Given the description of an element on the screen output the (x, y) to click on. 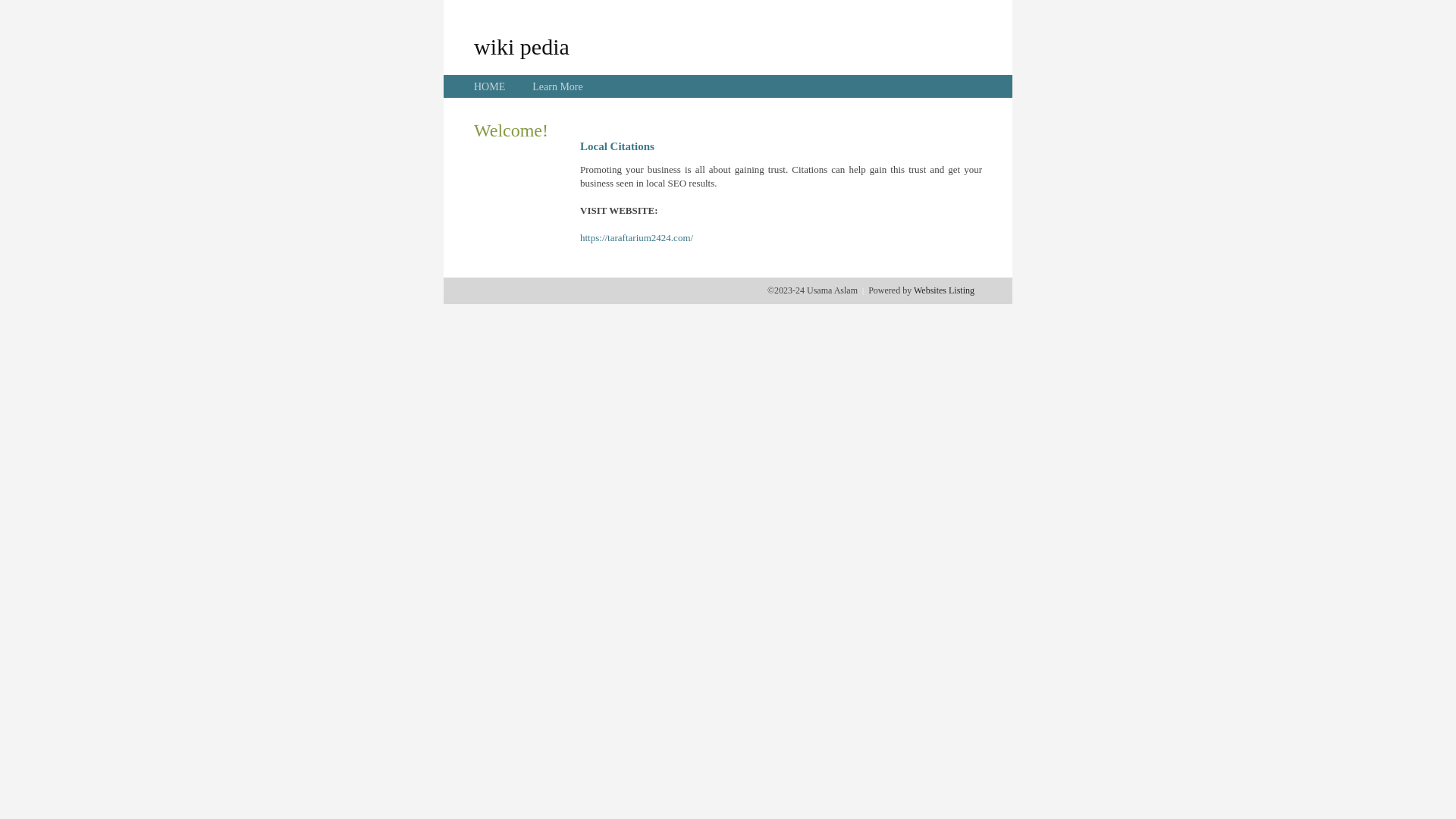
wiki pedia Element type: text (521, 46)
Learn More Element type: text (557, 86)
HOME Element type: text (489, 86)
Websites Listing Element type: text (943, 290)
https://taraftarium2424.com/ Element type: text (636, 237)
